Given the description of an element on the screen output the (x, y) to click on. 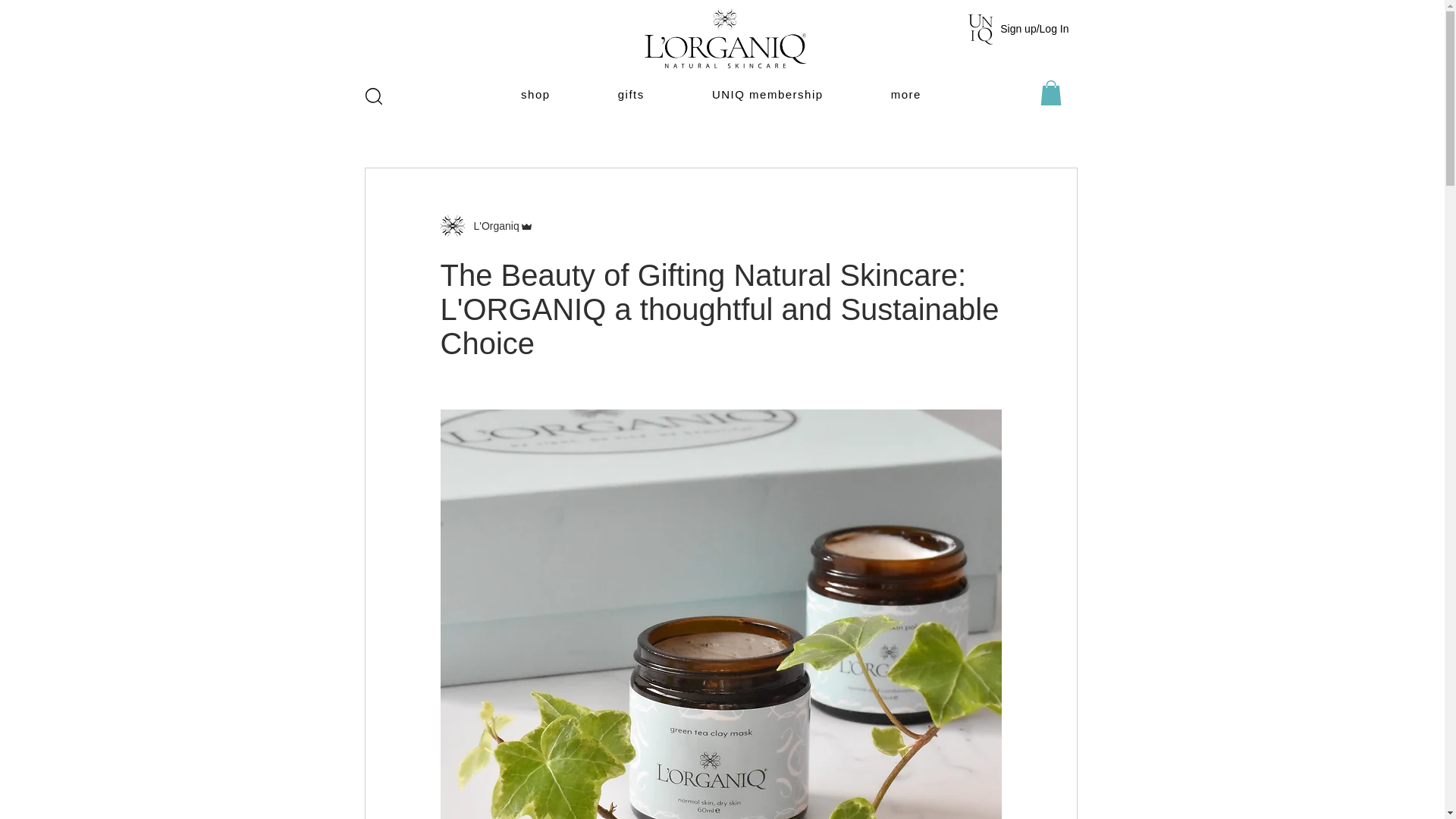
L'Organiq (485, 225)
L'Organiq (491, 226)
